Given the description of an element on the screen output the (x, y) to click on. 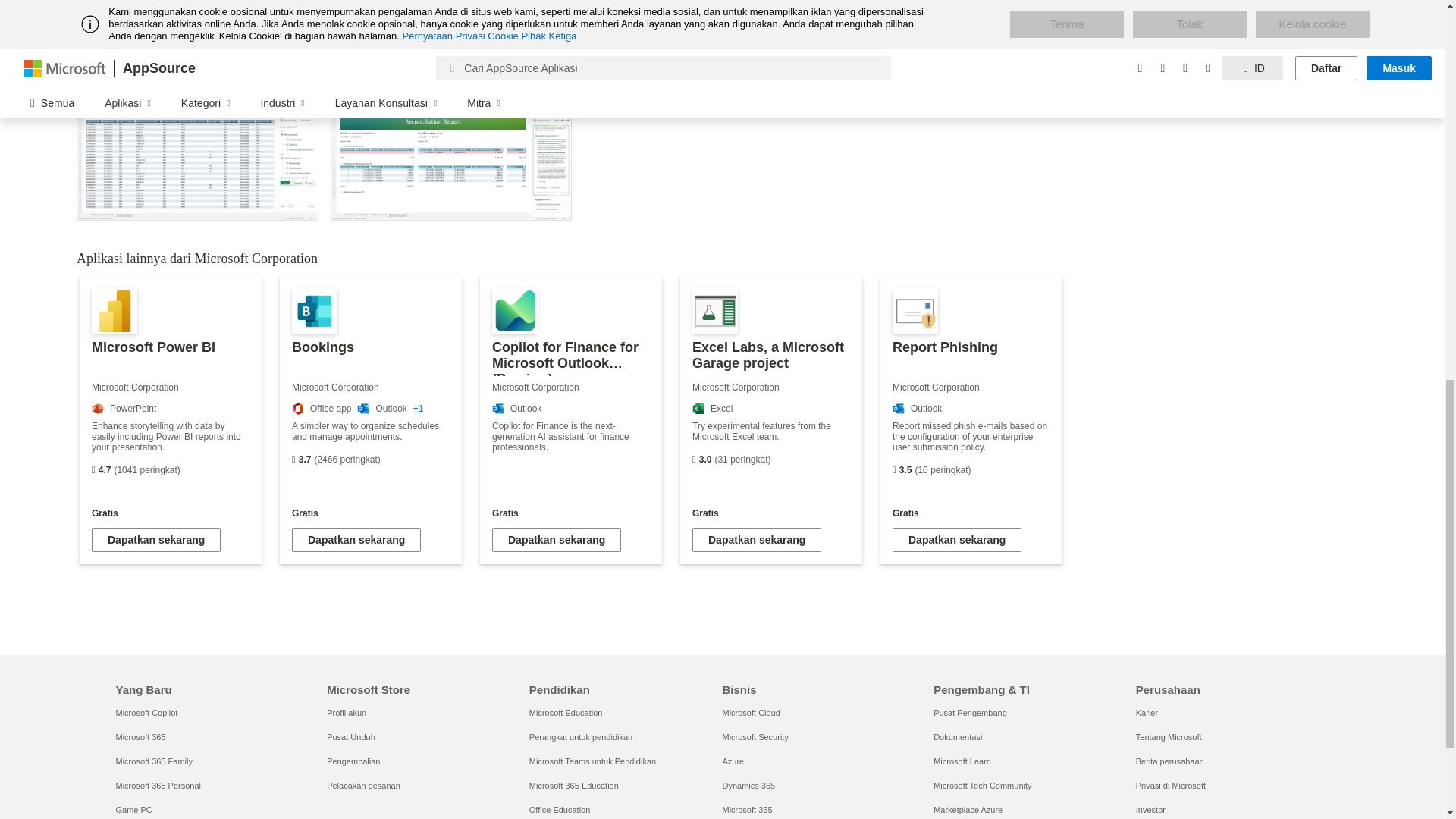
Dapatkan sekarang (556, 539)
Gratis (970, 512)
Gratis (169, 512)
Dapatkan sekarang (957, 539)
Gratis (570, 512)
Gratis (771, 512)
Gratis (370, 512)
Dapatkan sekarang (356, 539)
Dapatkan sekarang (156, 539)
Dapatkan sekarang (757, 539)
